Given the description of an element on the screen output the (x, y) to click on. 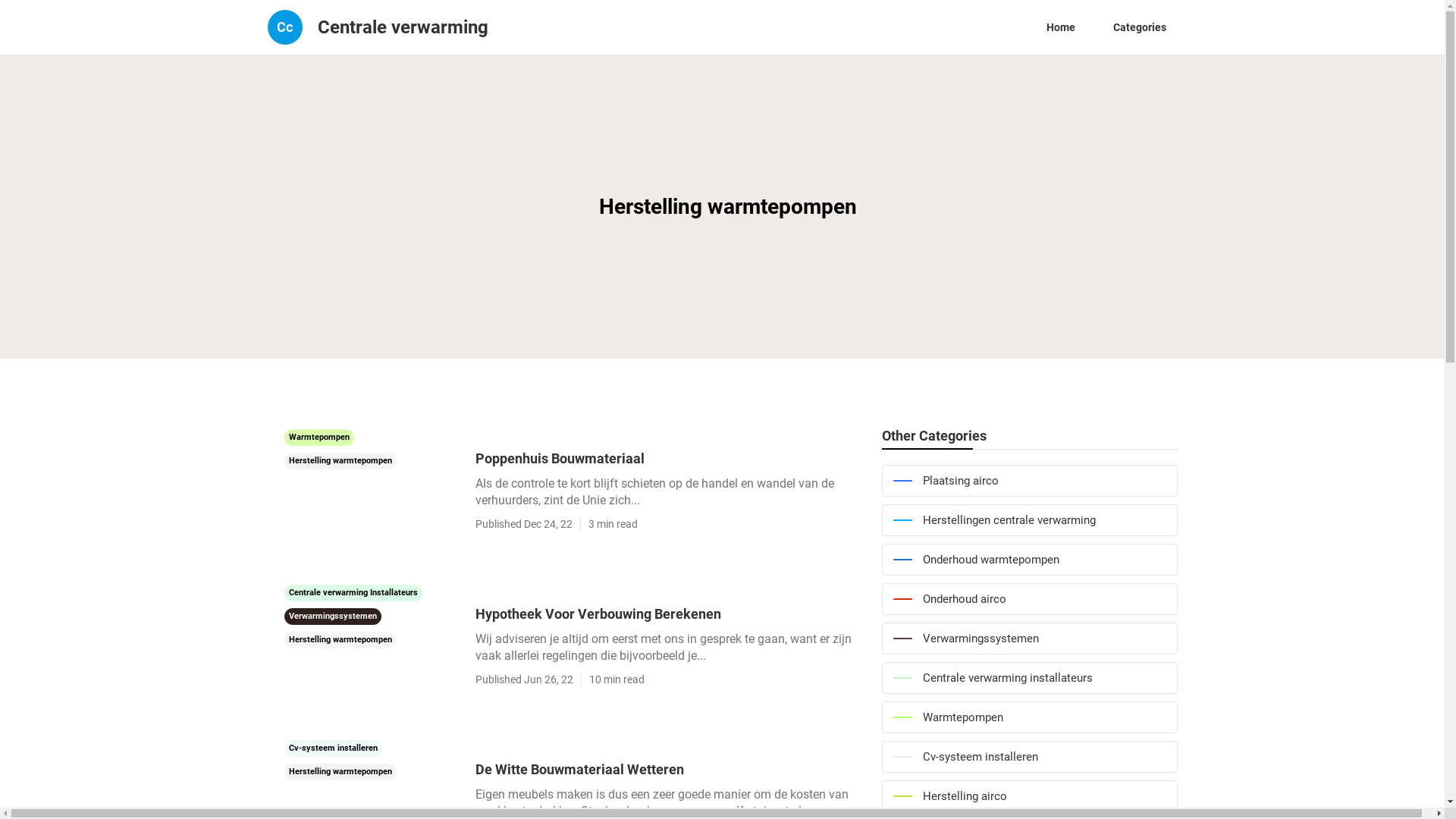
Centrale verwarming installateurs Element type: text (1028, 677)
Herstellingen centrale verwarming Element type: text (1028, 520)
Home Element type: text (1059, 26)
Cv-systeem installeren Element type: text (1028, 756)
Herstelling warmtepompen Element type: text (339, 638)
Onderhoud airco Element type: text (1028, 599)
Categories Element type: text (1138, 26)
De Witte Bouwmateriaal Wetteren Element type: text (670, 768)
Herstelling warmtepompen Element type: text (339, 459)
Verwarmingssystemen Element type: text (1028, 638)
Plaatsing airco Element type: text (1028, 480)
Herstelling warmtepompen Element type: text (339, 770)
Centrale verwarming Installateurs Element type: text (352, 591)
Onderhoud warmtepompen Element type: text (1028, 559)
Verwarmingssystemen Element type: text (331, 614)
Herstelling airco Element type: text (1028, 796)
Warmtepompen Element type: text (318, 435)
Hypotheek Voor Verbouwing Berekenen Element type: text (670, 614)
Poppenhuis Bouwmateriaal Element type: text (670, 457)
Warmtepompen Element type: text (1028, 717)
Cv-systeem installeren Element type: text (332, 746)
